Given the description of an element on the screen output the (x, y) to click on. 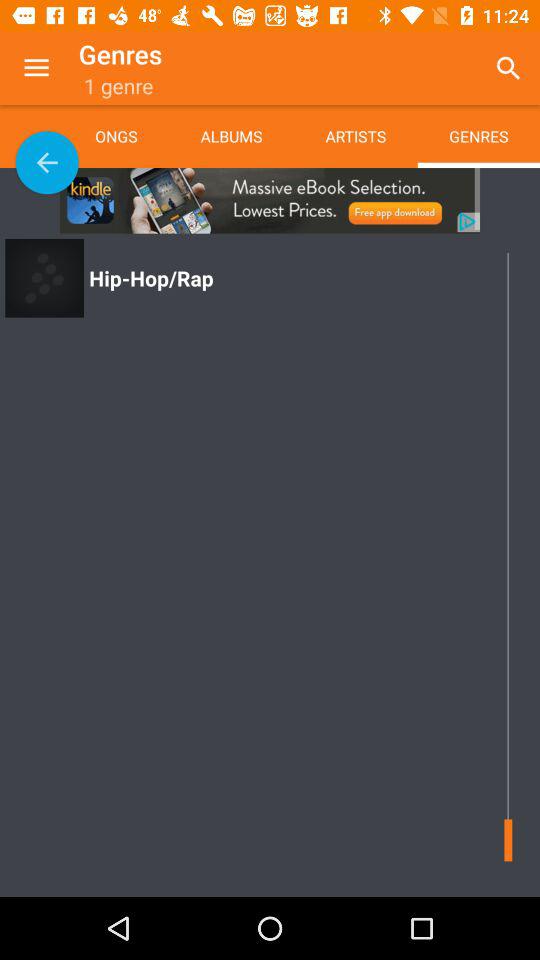
click app next to the artists icon (508, 67)
